Given the description of an element on the screen output the (x, y) to click on. 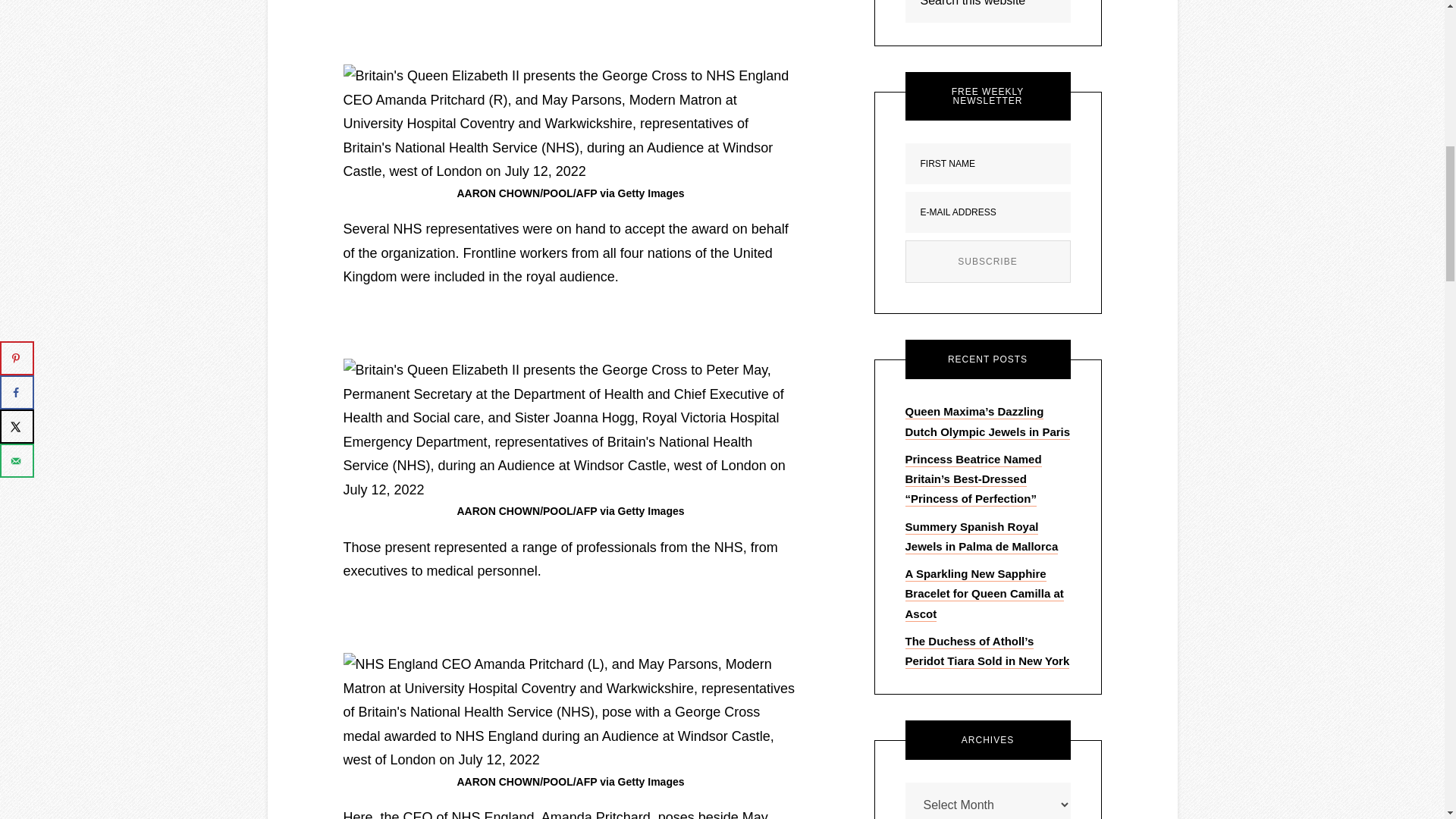
Subscribe (987, 261)
Summery Spanish Royal Jewels in Palma de Mallorca (981, 537)
A Sparkling New Sapphire Bracelet for Queen Camilla at Ascot (984, 594)
Subscribe (987, 261)
